Given the description of an element on the screen output the (x, y) to click on. 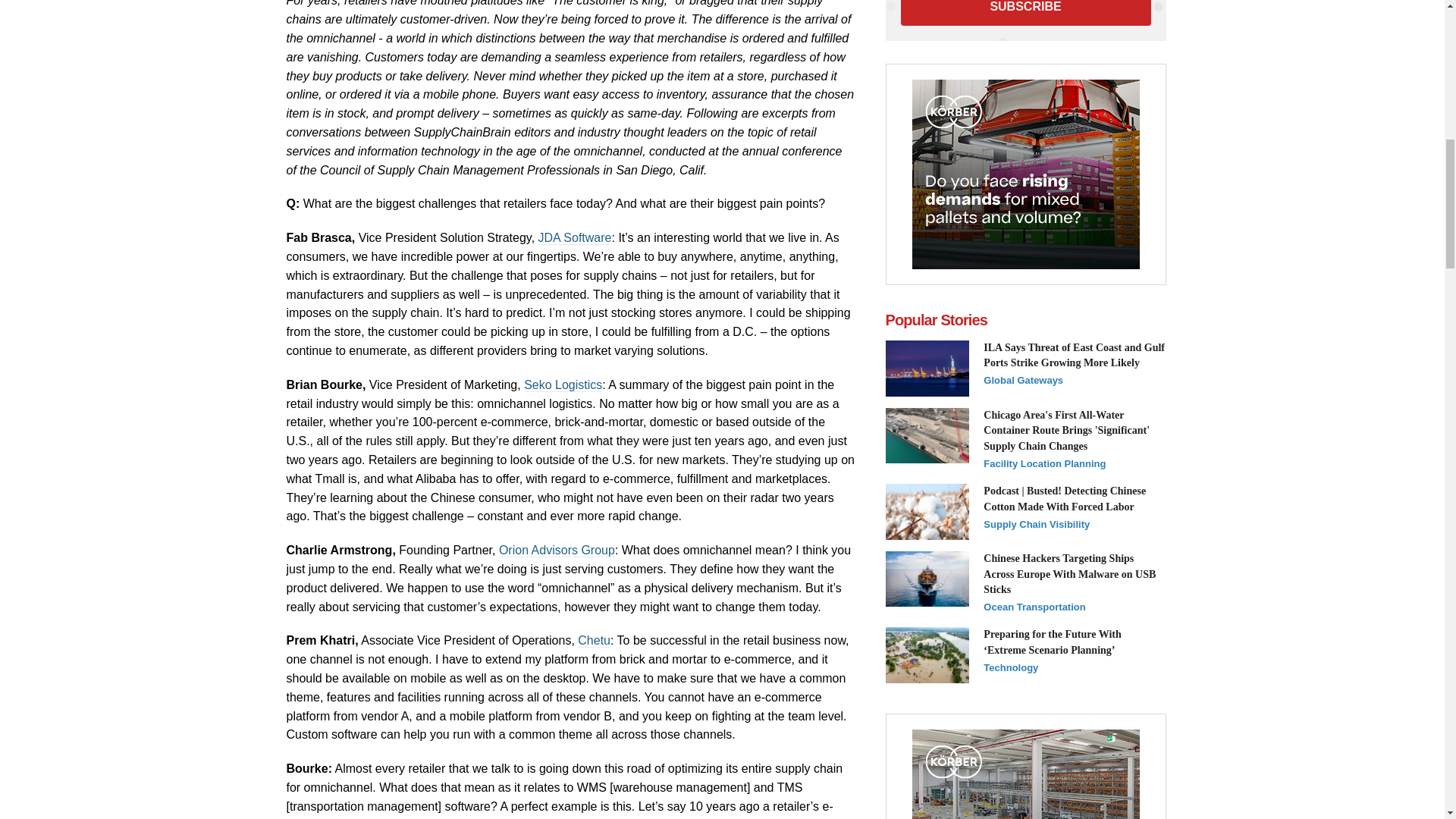
cargo-ship-iStock-1284416170.jpg (927, 579)
FLOOD CLIMATE CHANGE UKRAINE iStock-Bilanol-1327617934.jpg (927, 655)
cotton-plant-iStock-1452266868.jpg (927, 511)
burns-harbor-construction-indiana-courtesy-photo.png (927, 435)
Subscribe (1026, 12)
